Given the description of an element on the screen output the (x, y) to click on. 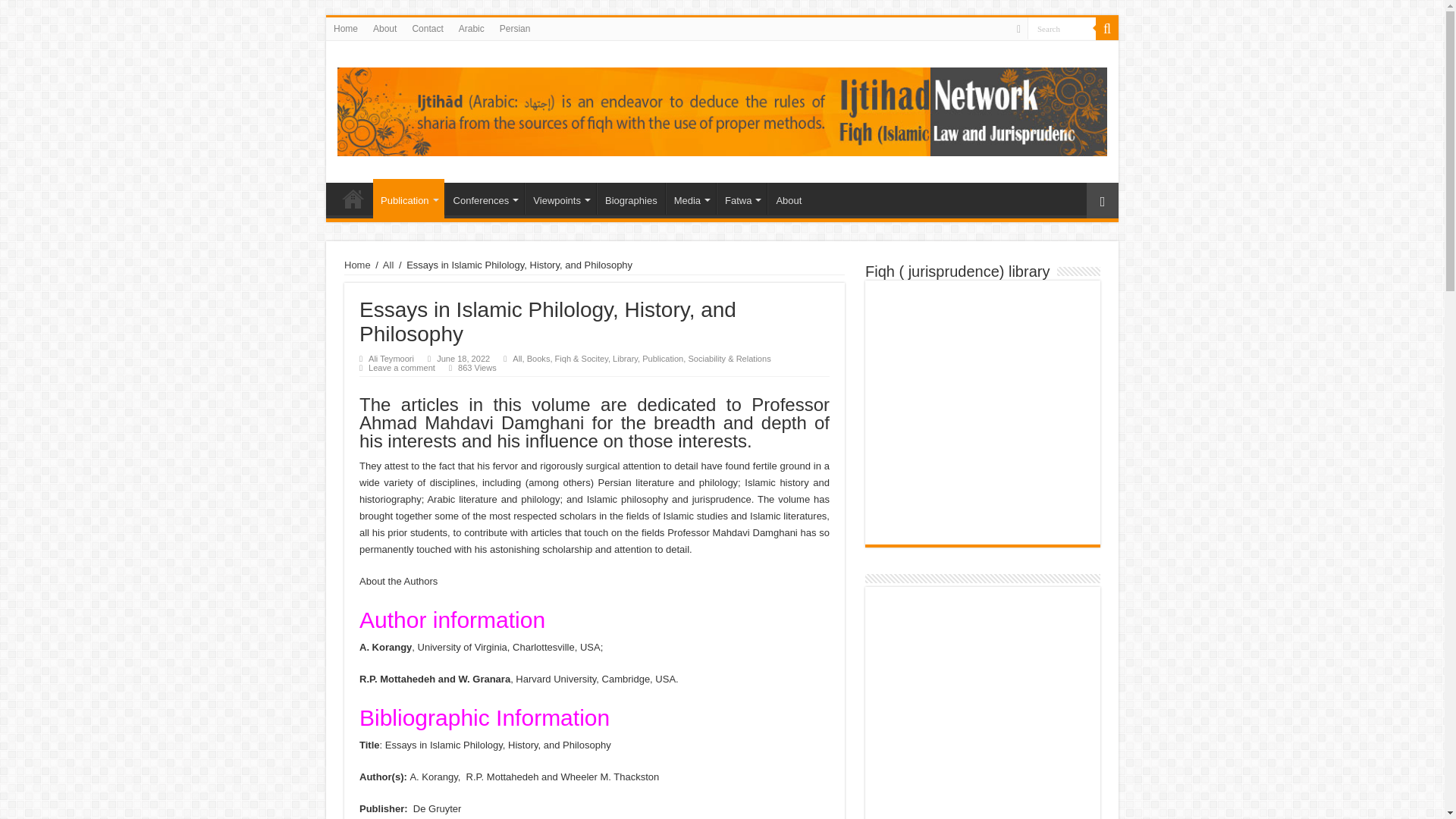
Publication (408, 198)
Ijtihad Network (721, 108)
Conferences (484, 198)
Viewpoints (559, 198)
Home (352, 198)
Contact (426, 28)
Arabic (471, 28)
Search (1107, 28)
Search (1061, 28)
Search (1061, 28)
